Given the description of an element on the screen output the (x, y) to click on. 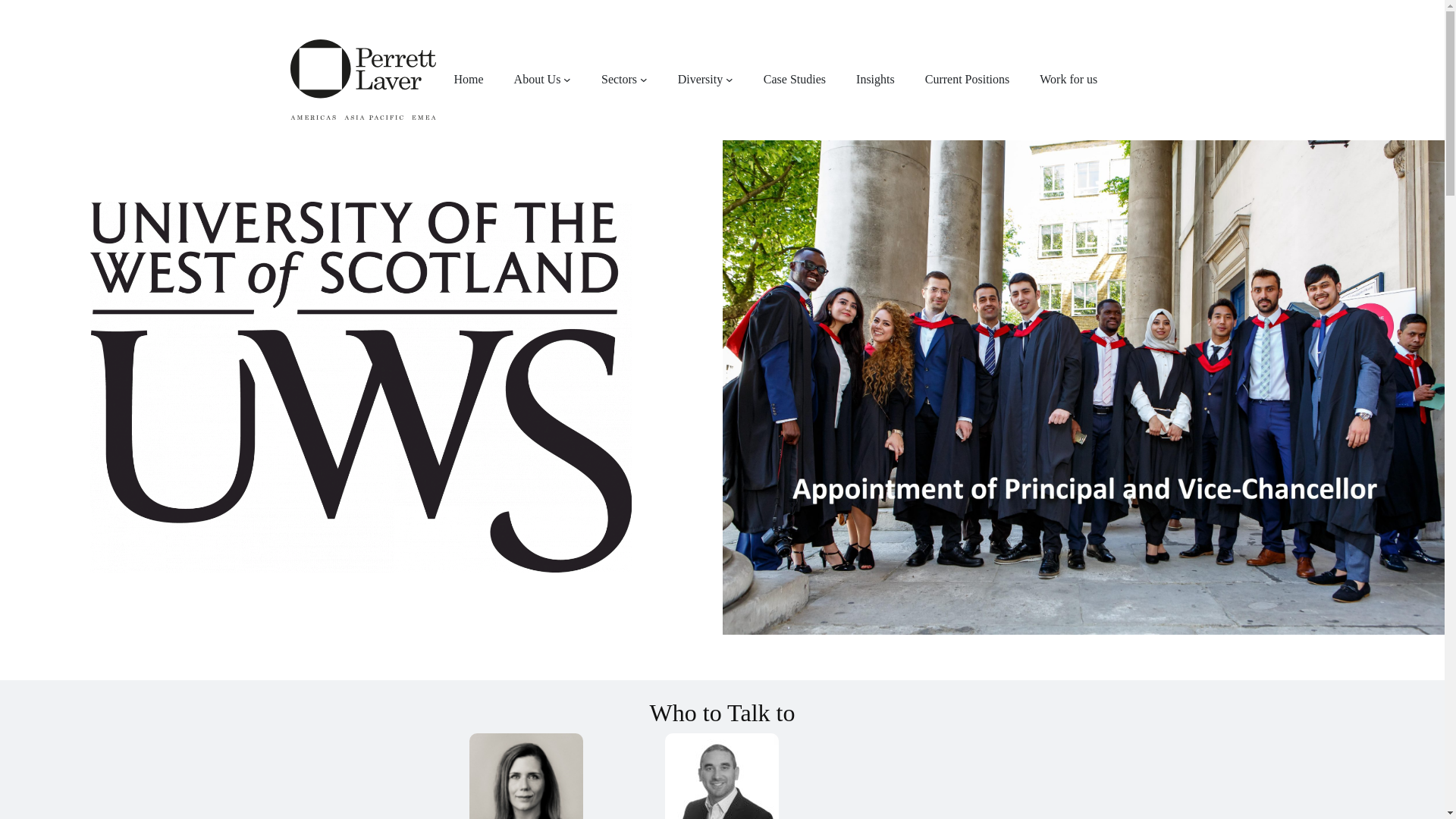
Current Positions (967, 79)
Insights (875, 79)
About Us (536, 79)
Work for us (1068, 79)
Diversity (700, 79)
Home (467, 79)
Case Studies (793, 79)
Sectors (619, 79)
